Given the description of an element on the screen output the (x, y) to click on. 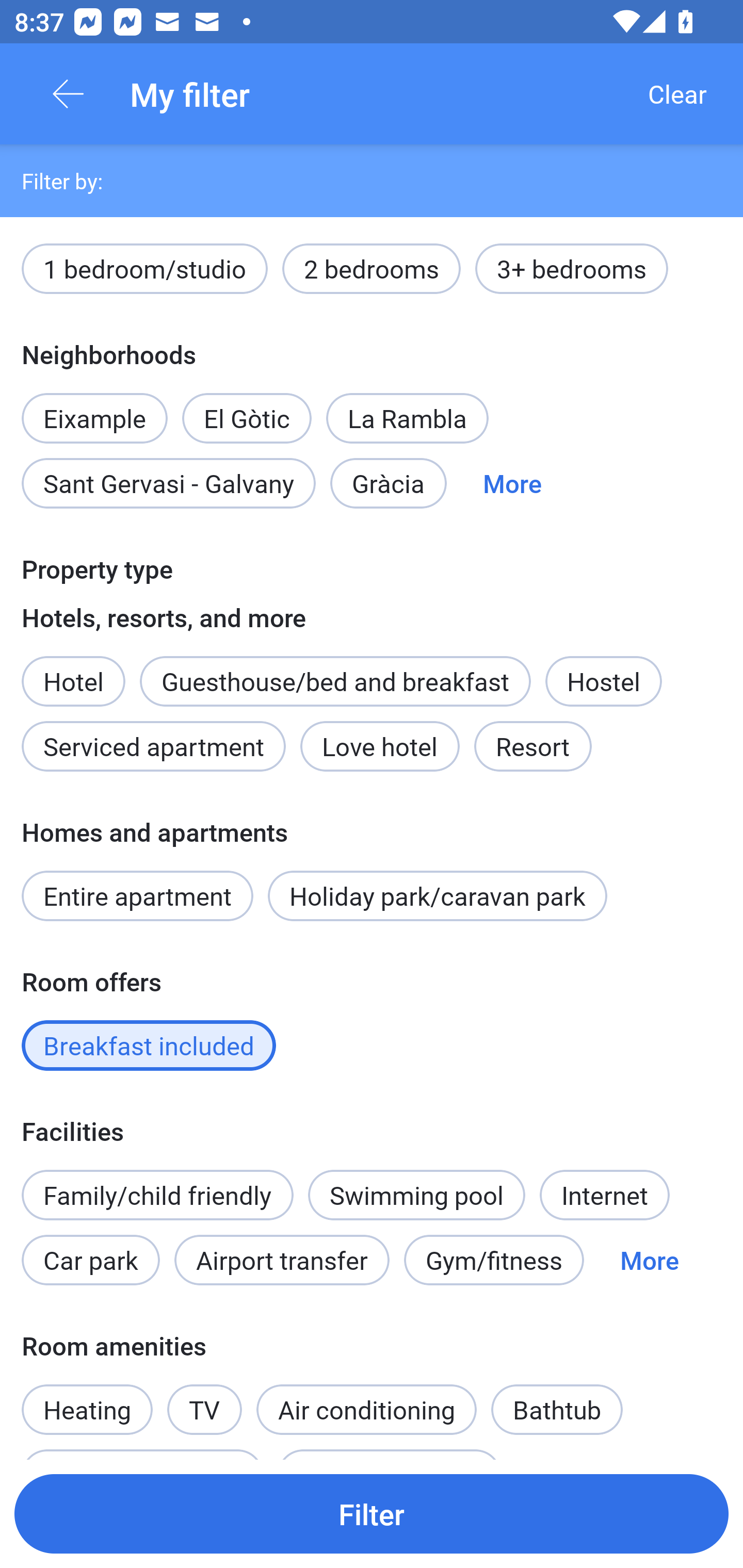
Clear (676, 93)
1 bedroom/studio (144, 268)
2 bedrooms (371, 268)
3+ bedrooms (571, 268)
Eixample (94, 407)
El Gòtic (246, 407)
La Rambla (407, 417)
Sant Gervasi - Galvany (168, 483)
Gràcia (387, 483)
More (512, 483)
Hotel (73, 670)
Guesthouse/bed and breakfast (335, 681)
Hostel (603, 681)
Serviced apartment (153, 746)
Love hotel (379, 746)
Resort (533, 746)
Entire apartment (137, 895)
Holiday park/caravan park (437, 895)
Family/child friendly (157, 1195)
Swimming pool (416, 1195)
Internet (604, 1195)
Car park (90, 1259)
Airport transfer (281, 1259)
Gym/fitness (493, 1259)
More (649, 1259)
Heating (87, 1398)
TV (204, 1398)
Air conditioning (366, 1409)
Bathtub (556, 1409)
Filter (371, 1513)
